Given the description of an element on the screen output the (x, y) to click on. 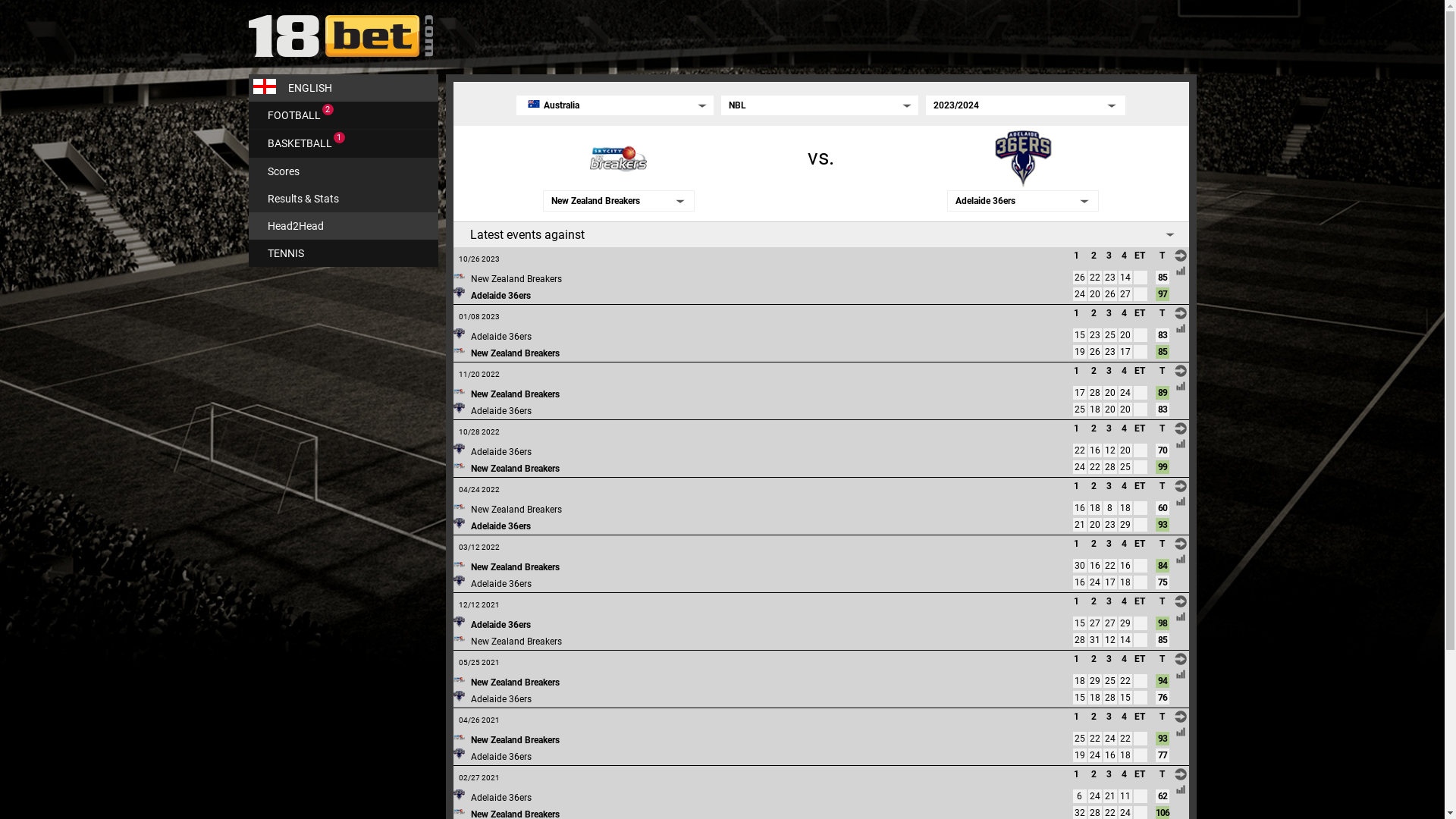
Adelaide 36ers Element type: text (500, 698)
New Zealand Breakers Element type: text (514, 394)
Adelaide 36ers Element type: text (500, 624)
Adelaide 36ers Element type: text (500, 797)
Adelaide 36ers Element type: text (500, 410)
FOOTBALL
2 Element type: text (343, 115)
New Zealand Breakers Element type: text (514, 566)
New Zealand Breakers Element type: text (514, 353)
Adelaide 36ers Element type: text (500, 295)
New Zealand Breakers Element type: text (514, 739)
Adelaide 36ers Element type: text (500, 756)
New Zealand Breakers Element type: text (515, 509)
TENNIS Element type: text (343, 252)
Adelaide 36ers Element type: text (500, 525)
Results & Stats Element type: text (343, 198)
Adelaide 36ers Element type: text (500, 336)
New Zealand Breakers Element type: text (514, 682)
Head2Head Element type: text (343, 225)
New Zealand Breakers Element type: text (515, 641)
Adelaide 36ers Element type: text (500, 583)
Adelaide 36ers Element type: text (500, 451)
New Zealand Breakers Element type: text (515, 278)
Scores Element type: text (343, 171)
New Zealand Breakers Element type: text (514, 468)
BASKETBALL
1 Element type: text (343, 143)
